Given the description of an element on the screen output the (x, y) to click on. 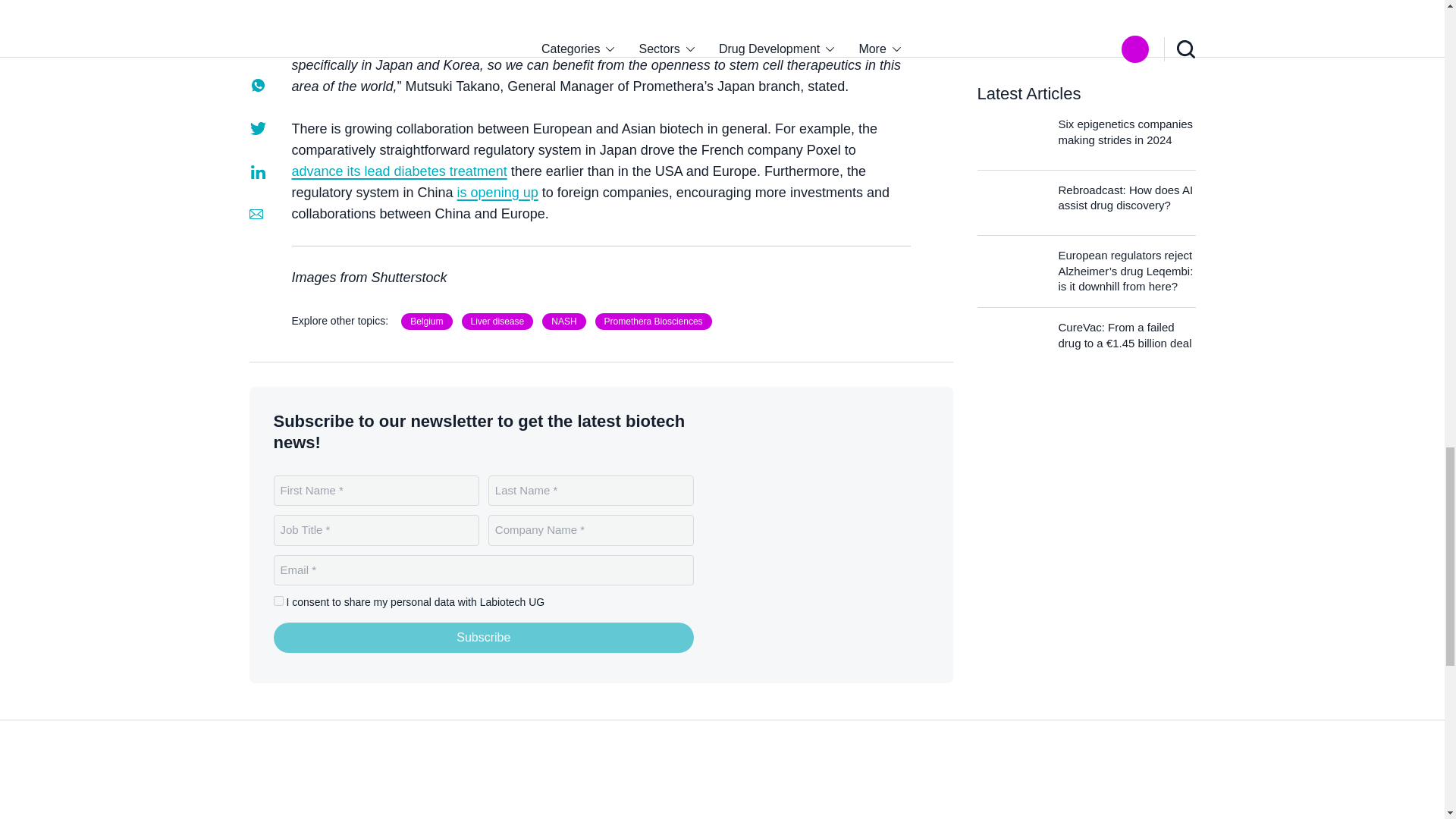
Subscribe (483, 637)
Labiotech.eu (309, 794)
1 (277, 601)
